Given the description of an element on the screen output the (x, y) to click on. 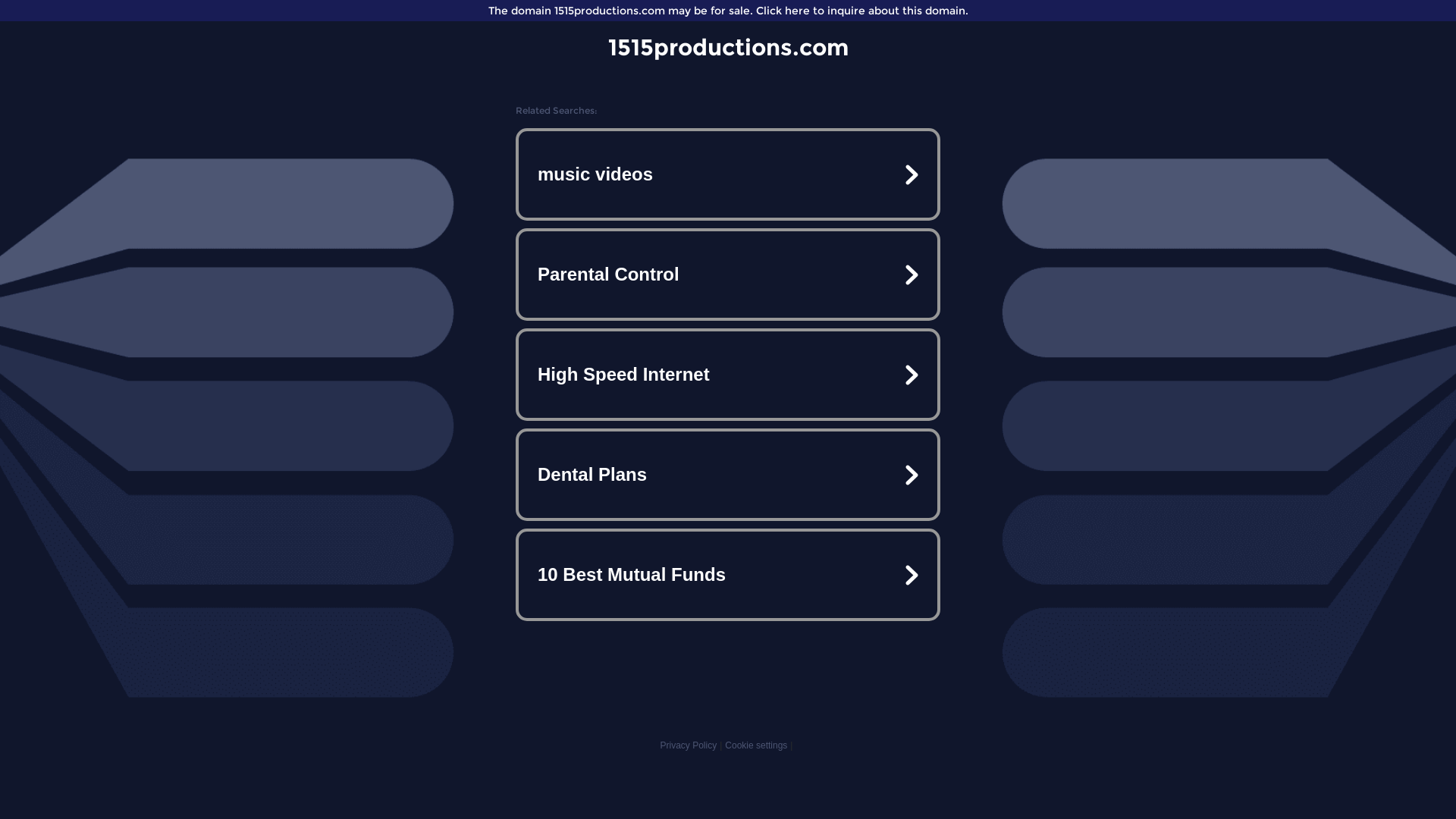
10 Best Mutual Funds Element type: text (727, 574)
Privacy Policy Element type: text (687, 745)
music videos Element type: text (727, 174)
Dental Plans Element type: text (727, 474)
Cookie settings Element type: text (755, 745)
1515productions.com Element type: text (728, 47)
High Speed Internet Element type: text (727, 374)
Parental Control Element type: text (727, 274)
